Given the description of an element on the screen output the (x, y) to click on. 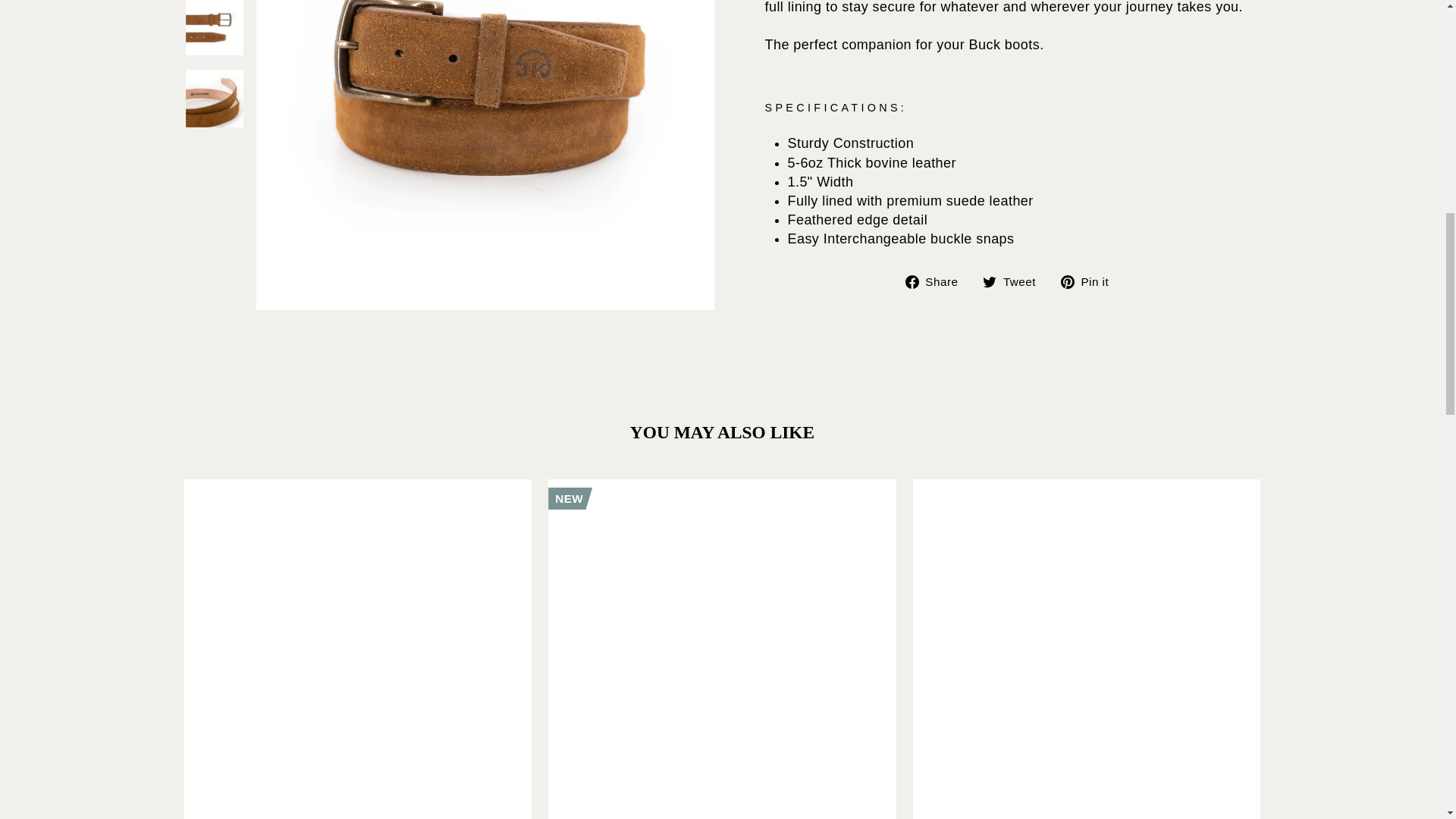
Tweet on Twitter (1014, 280)
Share on Facebook (937, 280)
twitter (988, 282)
Pin on Pinterest (1090, 280)
